Given the description of an element on the screen output the (x, y) to click on. 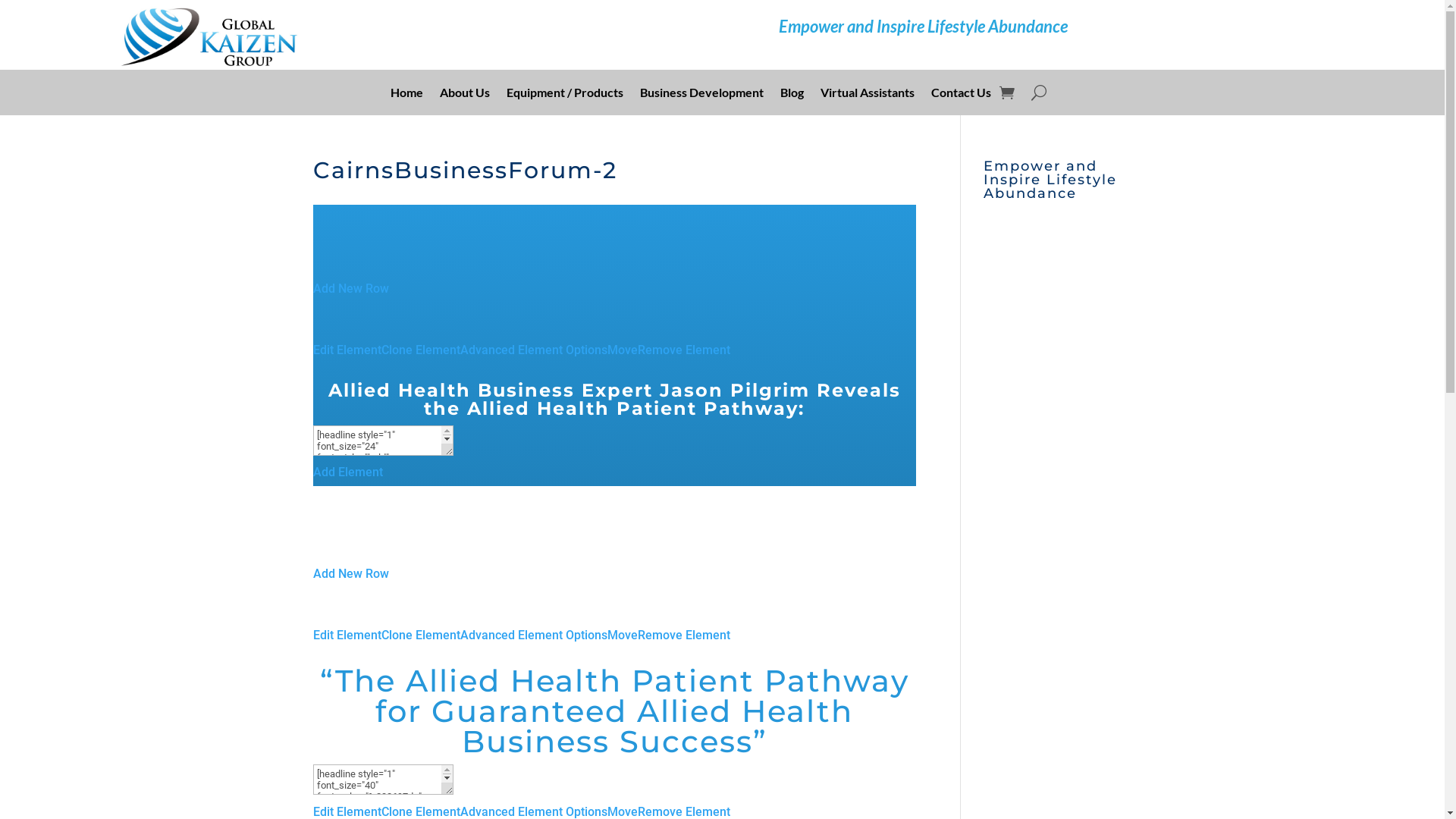
Contact Us Element type: text (961, 95)
Move Element type: text (621, 634)
Blog Element type: text (791, 95)
Add New Row Element type: text (350, 288)
Move Element type: text (621, 349)
About Us Element type: text (464, 95)
Clone Element Element type: text (419, 349)
Clone Element Element type: text (419, 634)
Home Element type: text (405, 95)
Kaizen-Logo-GKG-Landscape2 Element type: hover (209, 36)
Remove Element Element type: text (683, 349)
Advanced Element Options Element type: text (532, 634)
Add New Row Element type: text (350, 573)
Virtual Assistants Element type: text (867, 95)
Equipment / Products Element type: text (564, 95)
Edit Element Element type: text (346, 634)
Remove Element Element type: text (683, 634)
Add Element Element type: text (347, 471)
Advanced Element Options Element type: text (532, 349)
Business Development Element type: text (701, 95)
Edit Element Element type: text (346, 349)
